Given the description of an element on the screen output the (x, y) to click on. 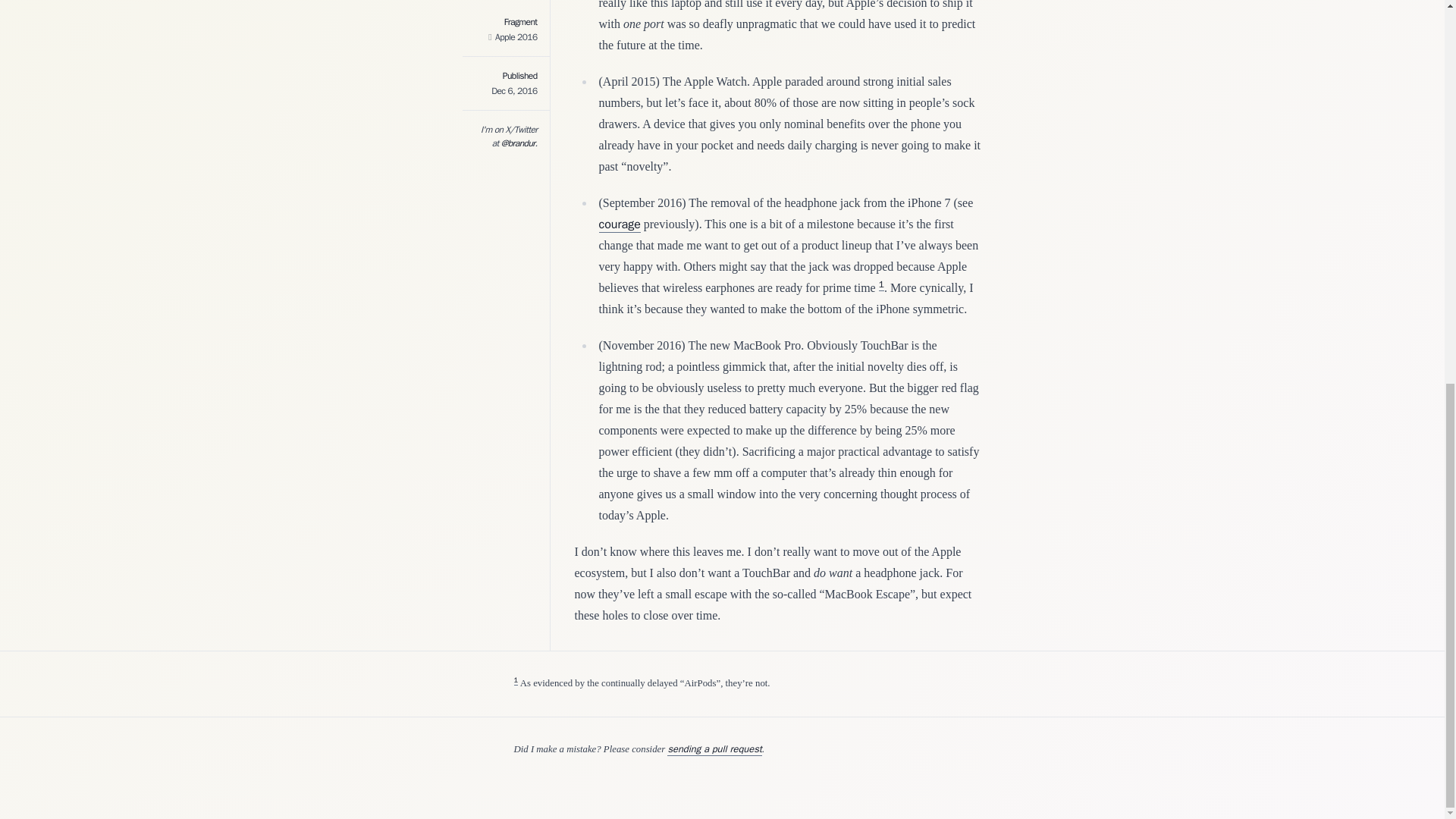
sending a pull request (713, 748)
courage (619, 224)
